Given the description of an element on the screen output the (x, y) to click on. 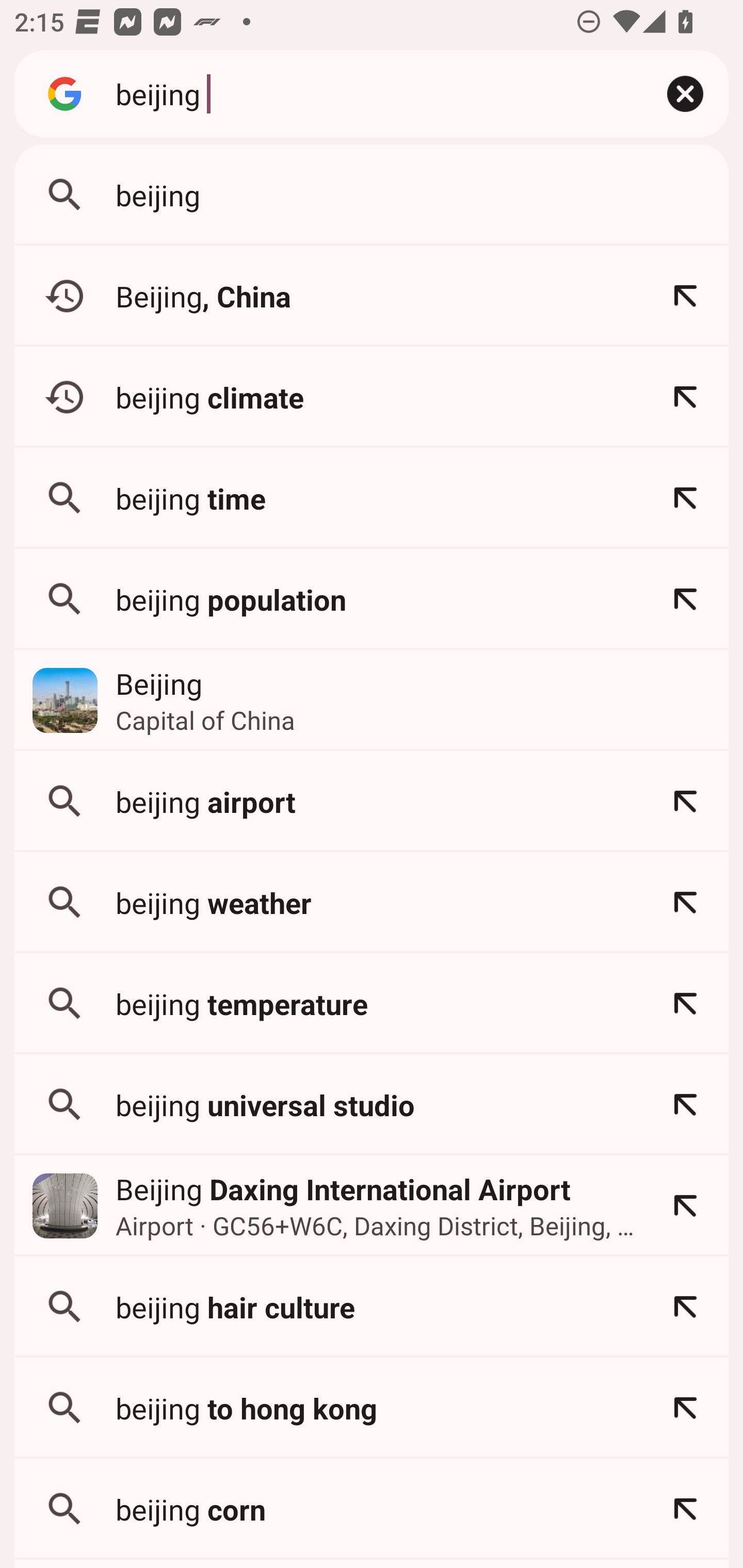
Clear input (684, 93)
beijing  (367, 92)
beijing (371, 195)
Beijing, China Refine: Beijing, China (371, 296)
Refine: Beijing, China (684, 296)
beijing climate Refine: beijing climate (371, 397)
Refine: beijing climate (684, 397)
beijing time Refine: beijing time (371, 498)
Refine: beijing time (684, 498)
beijing population Refine: beijing population (371, 598)
Refine: beijing population (684, 598)
Beijing Capital of China (371, 700)
beijing airport Refine: beijing airport (371, 801)
Refine: beijing airport (684, 801)
beijing weather Refine: beijing weather (371, 902)
Refine: beijing weather (684, 902)
beijing temperature Refine: beijing temperature (371, 1003)
Refine: beijing temperature (684, 1003)
Refine: beijing universal studio (684, 1104)
Refine: beijing daxing international airport (684, 1205)
beijing hair culture Refine: beijing hair culture (371, 1306)
Refine: beijing hair culture (684, 1306)
beijing to hong kong Refine: beijing to hong kong (371, 1407)
Refine: beijing to hong kong (684, 1407)
beijing corn Refine: beijing corn (371, 1509)
Refine: beijing corn (684, 1509)
